Given the description of an element on the screen output the (x, y) to click on. 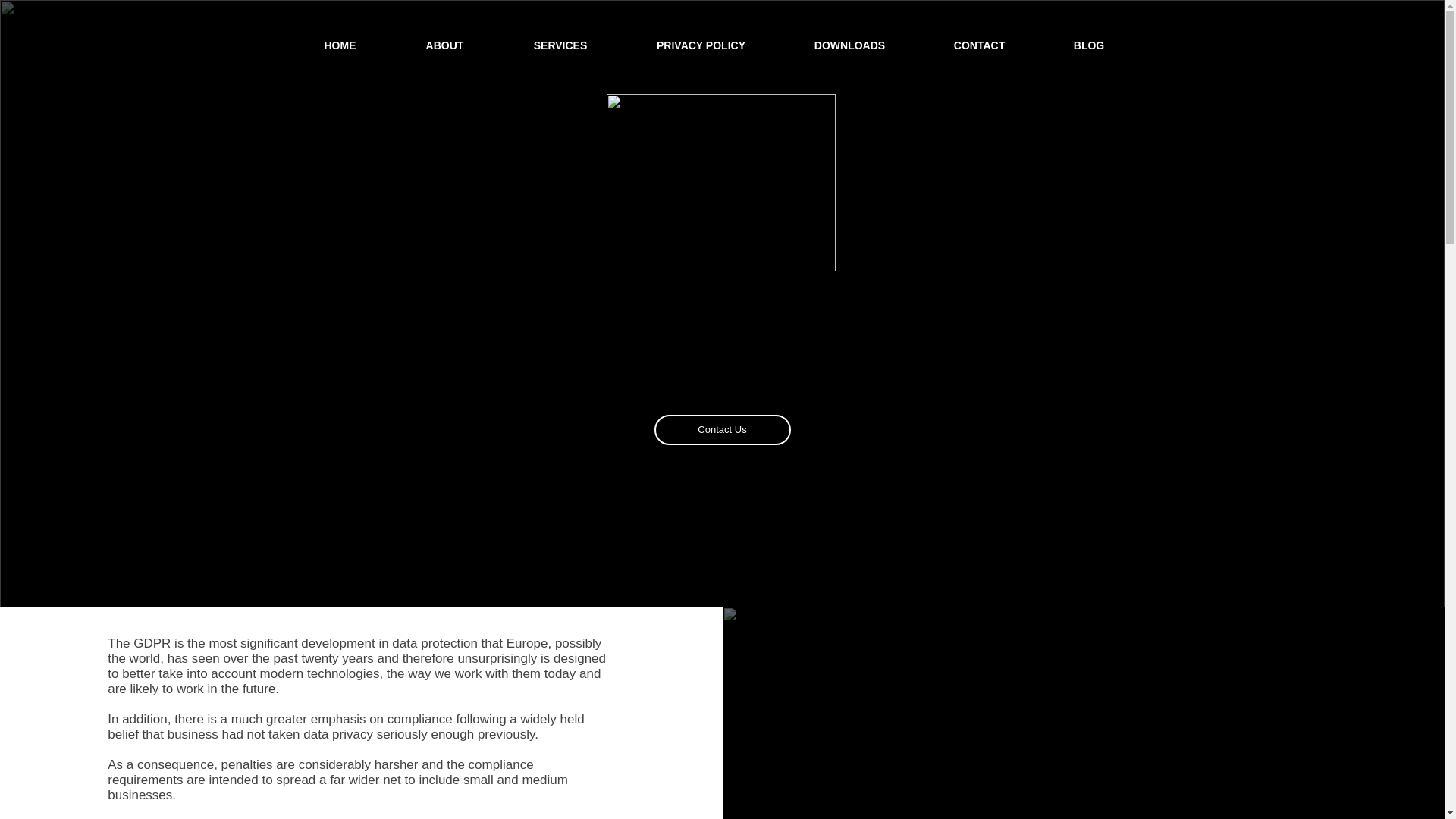
PRIVACY POLICY Element type: text (700, 45)
CONTACT Element type: text (978, 45)
BLOG Element type: text (1088, 45)
SERVICES Element type: text (560, 45)
ABOUT Element type: text (444, 45)
HOME Element type: text (340, 45)
DOWNLOADS Element type: text (849, 45)
